Given the description of an element on the screen output the (x, y) to click on. 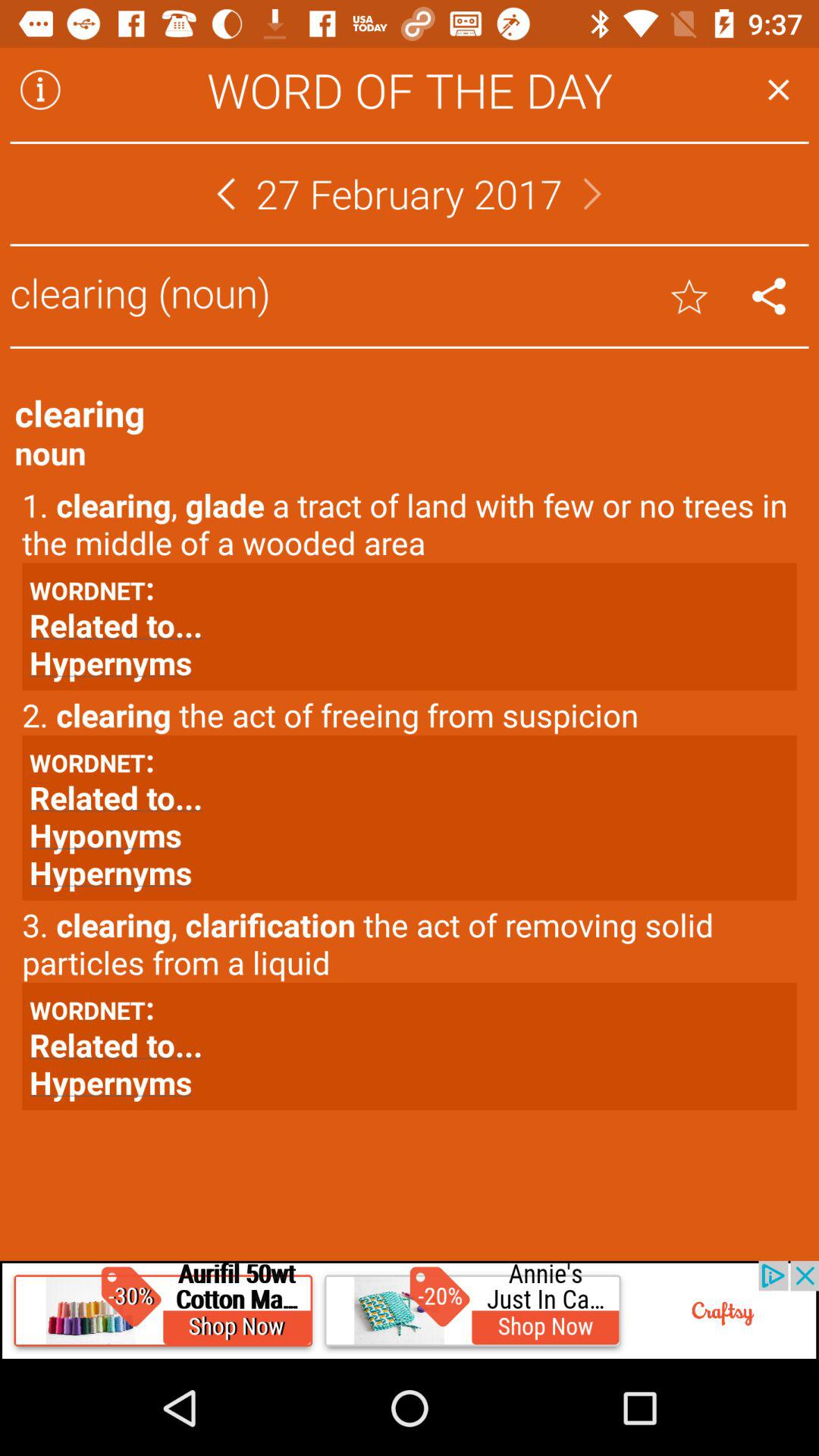
go to more details (40, 89)
